Given the description of an element on the screen output the (x, y) to click on. 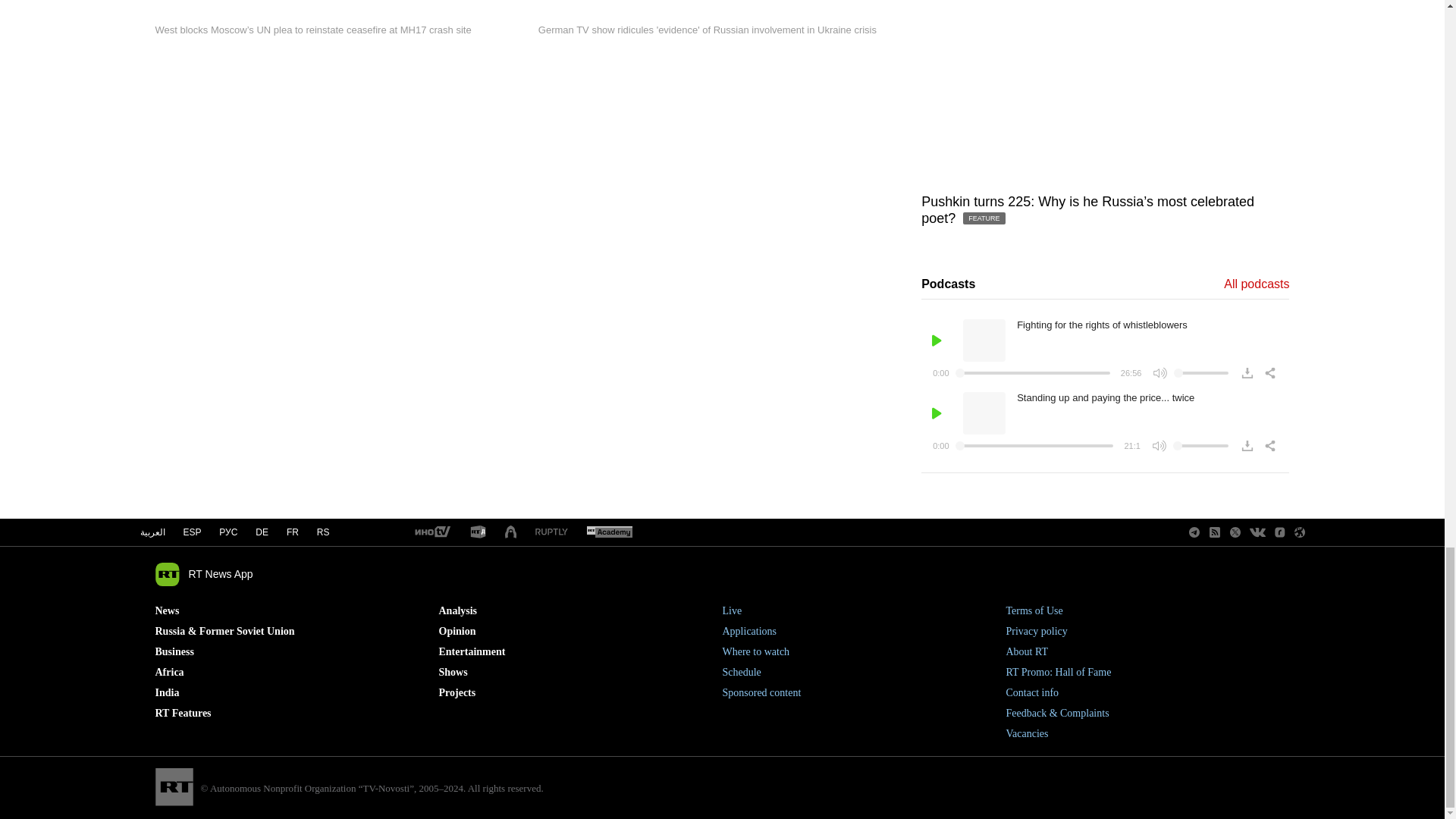
RT  (551, 532)
RT  (478, 532)
RT  (608, 532)
RT  (431, 532)
